Given the description of an element on the screen output the (x, y) to click on. 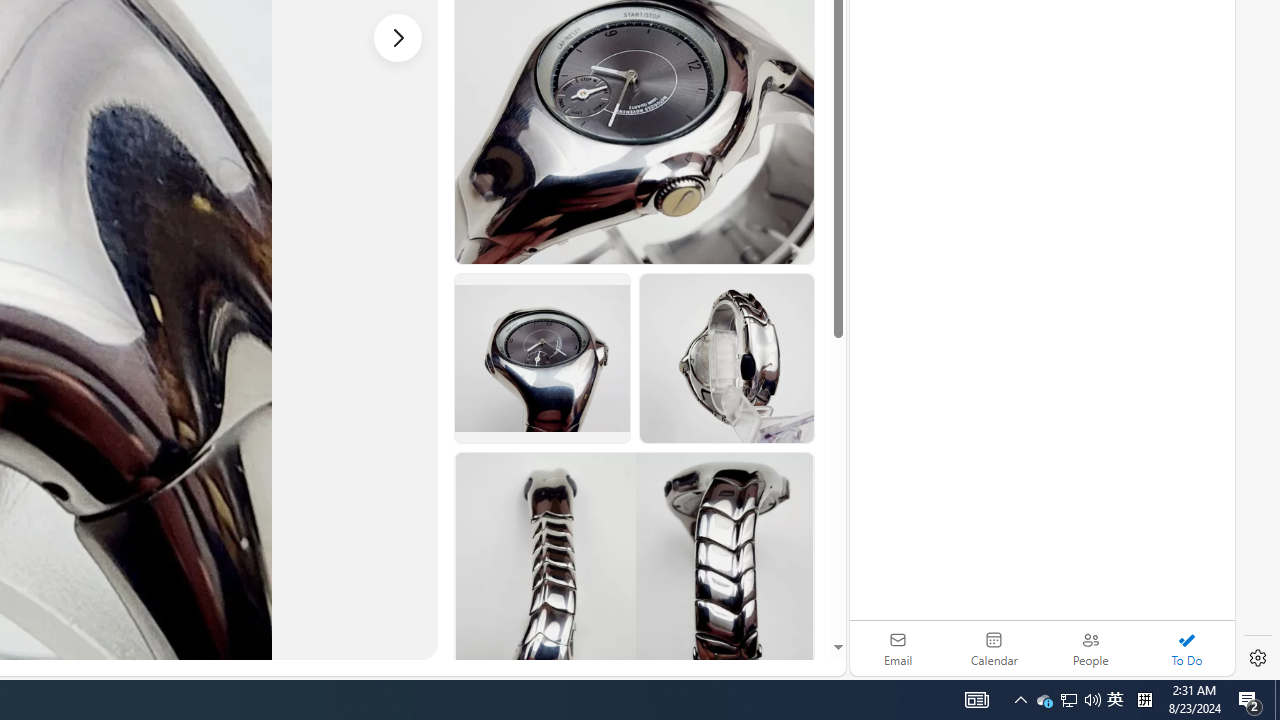
To Do (1186, 648)
Next image - Item images thumbnails (397, 37)
People (1090, 648)
Email (898, 648)
Calendar. Date today is 22 (994, 648)
